Given the description of an element on the screen output the (x, y) to click on. 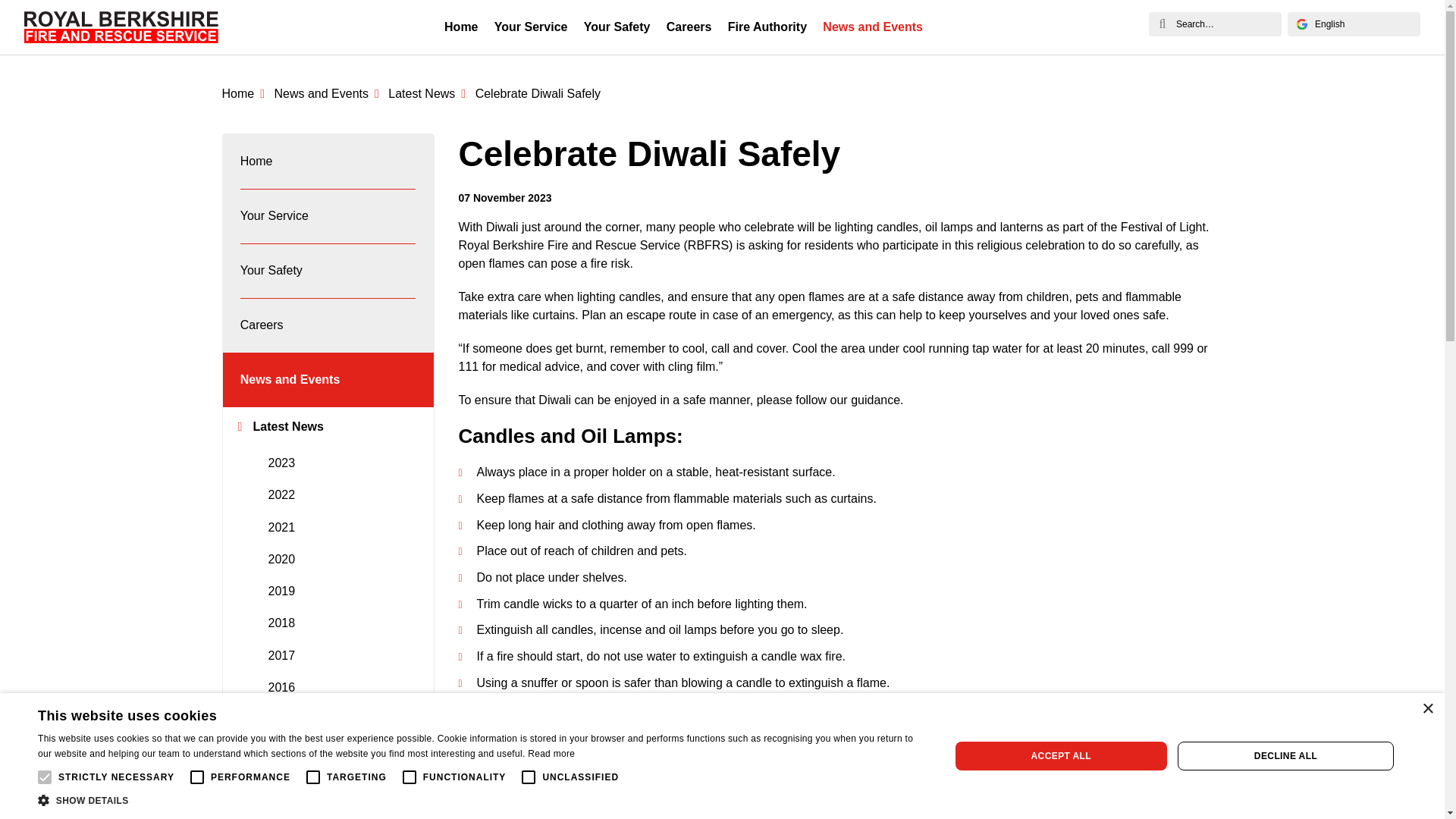
Your Safety (616, 27)
Search (1162, 24)
Home (327, 161)
Home (245, 92)
Fire Authority (767, 27)
Your Service (530, 27)
News and Events (873, 27)
News and Events (328, 92)
Latest News (429, 92)
Careers (688, 27)
Home (460, 27)
Your Service (327, 216)
